Given the description of an element on the screen output the (x, y) to click on. 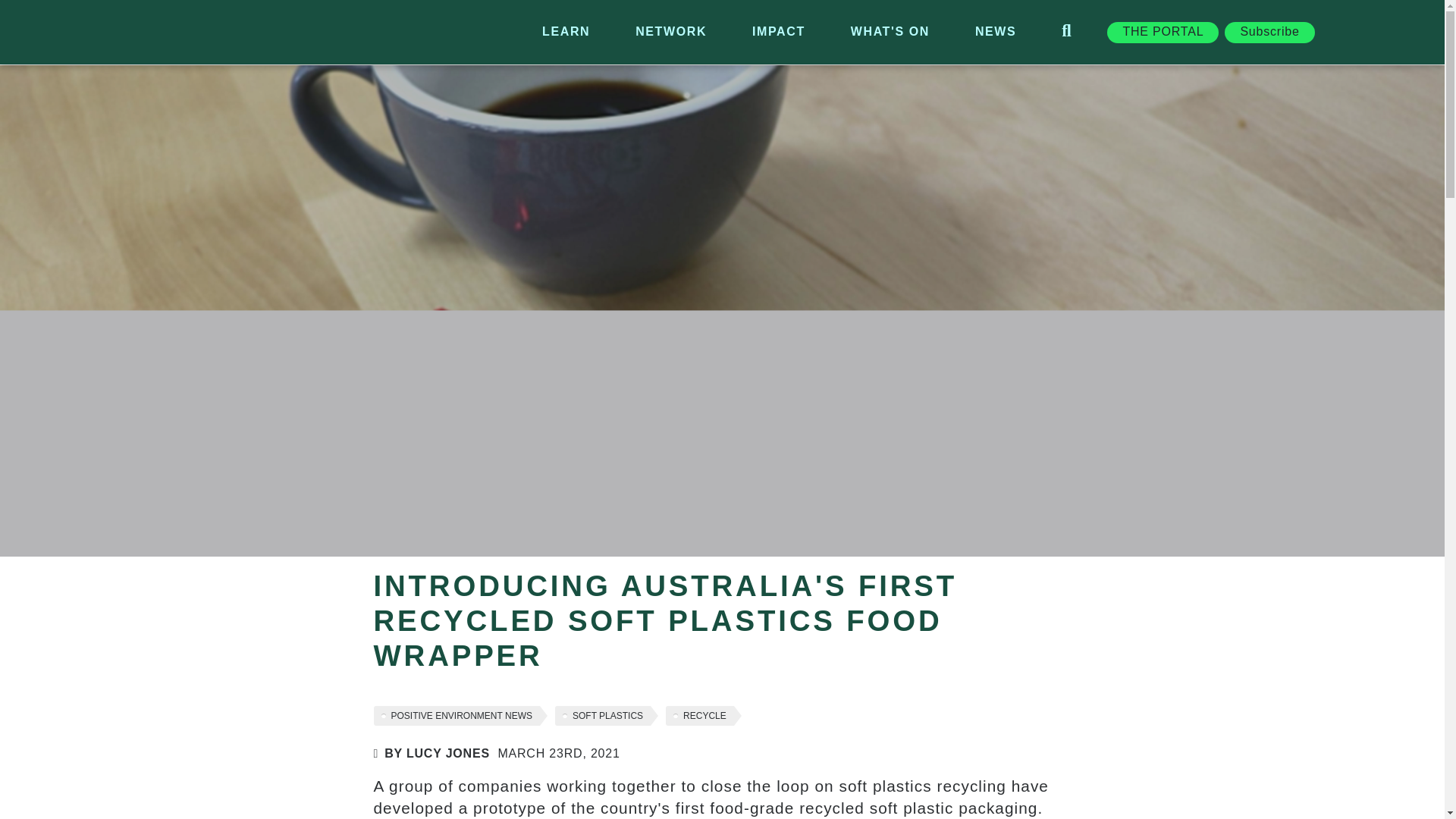
THE PORTAL (1162, 31)
WHAT'S ON (890, 32)
POSITIVE ENVIRONMENT NEWS (459, 715)
NETWORK (670, 32)
RECYCLE (703, 715)
LEARN (565, 32)
SOFT PLASTICS (606, 715)
Subscribe (1269, 31)
NEWS (995, 32)
IMPACT (778, 32)
